Given the description of an element on the screen output the (x, y) to click on. 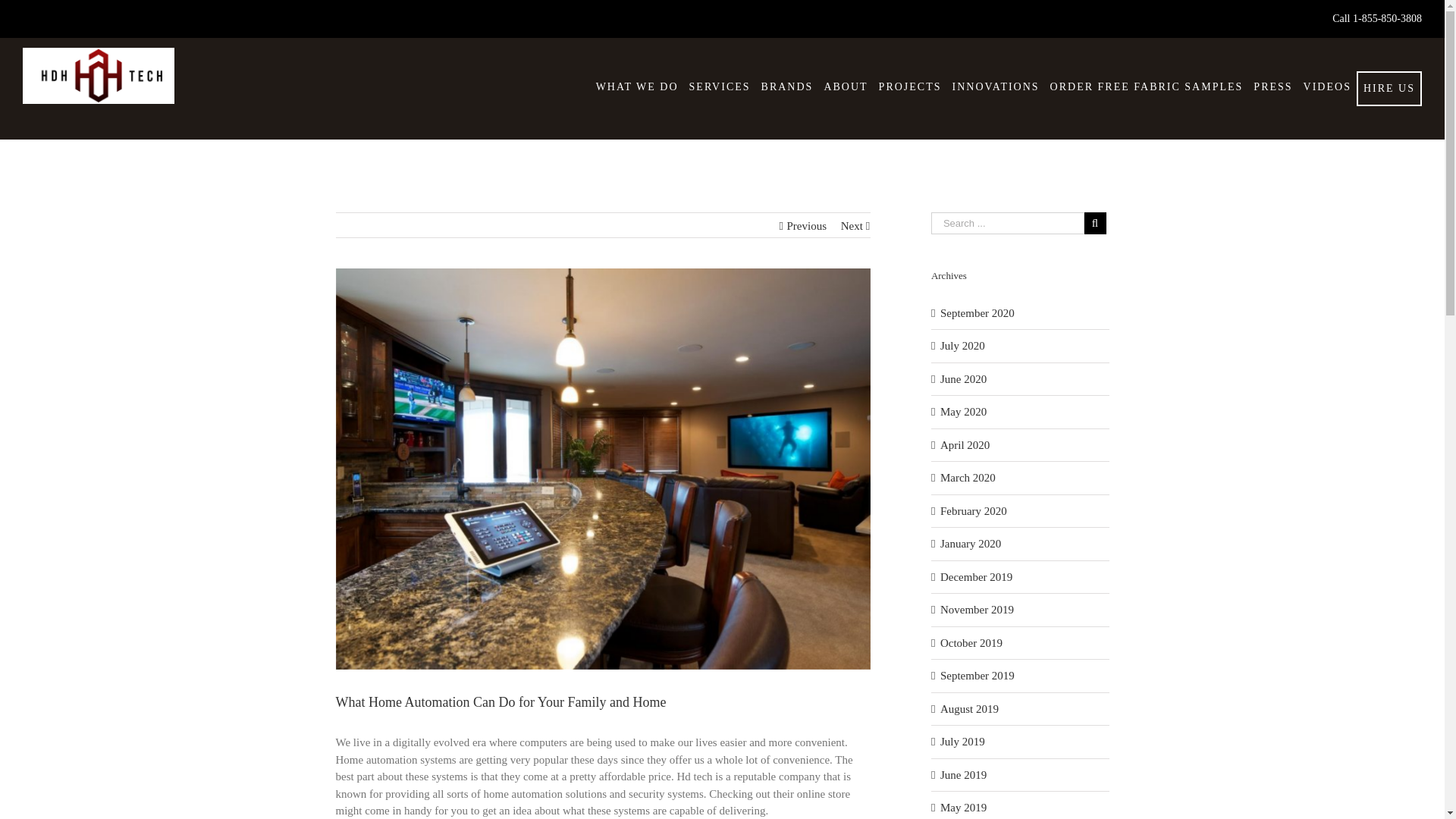
WHAT WE DO (637, 87)
VIDEOS (1327, 87)
BRANDS (786, 87)
ABOUT (845, 87)
1-855-850-3808 (1387, 18)
INNOVATIONS (996, 87)
PROJECTS (910, 87)
PRESS (1272, 87)
SERVICES (719, 87)
ORDER FREE FABRIC SAMPLES (1147, 87)
HIRE US (1389, 88)
